Given the description of an element on the screen output the (x, y) to click on. 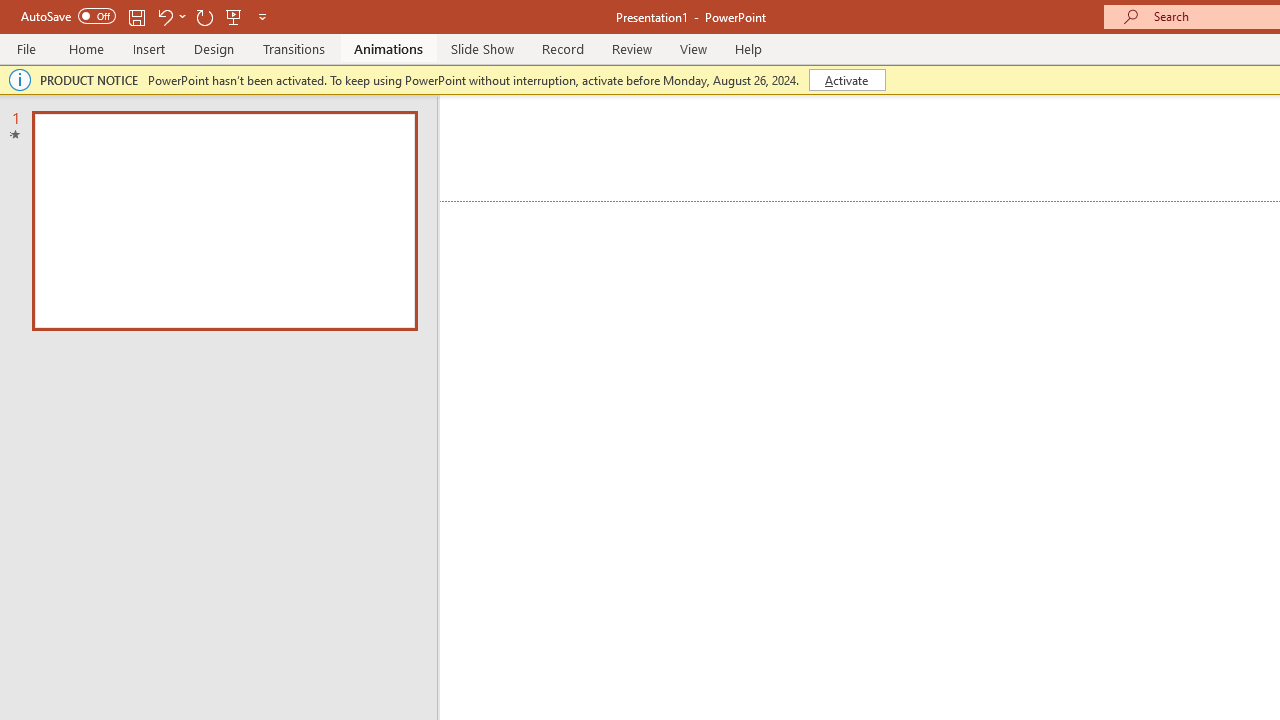
Sort... (1054, 137)
Text Highlight Color (506, 180)
Character Shading (618, 180)
Increase Indent (944, 137)
Cut (112, 126)
Paragraph... (1115, 226)
Text Effects and Typography (444, 180)
Shrink Font (468, 137)
